Given the description of an element on the screen output the (x, y) to click on. 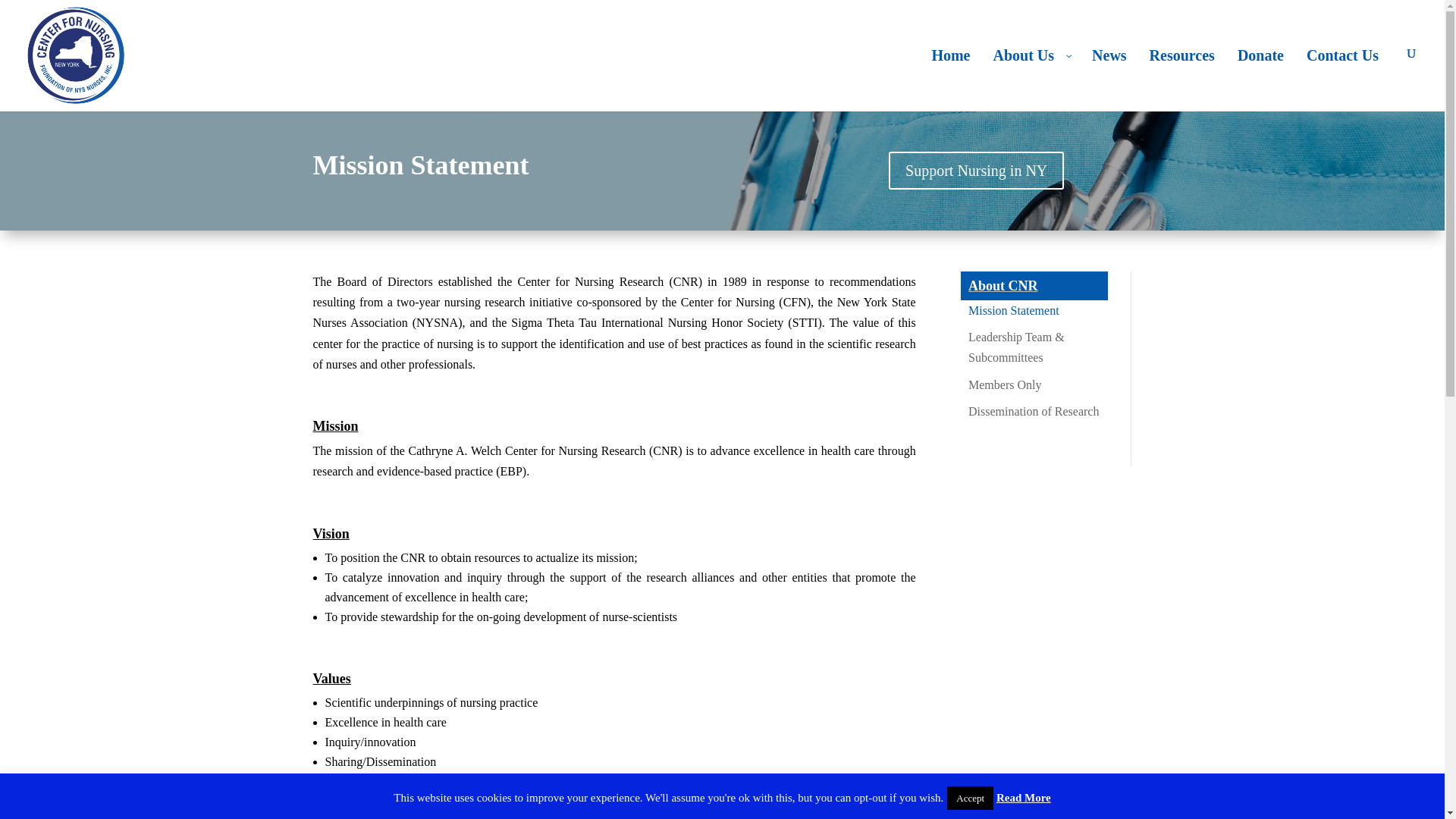
About Us (1030, 78)
Home (950, 78)
